Given the description of an element on the screen output the (x, y) to click on. 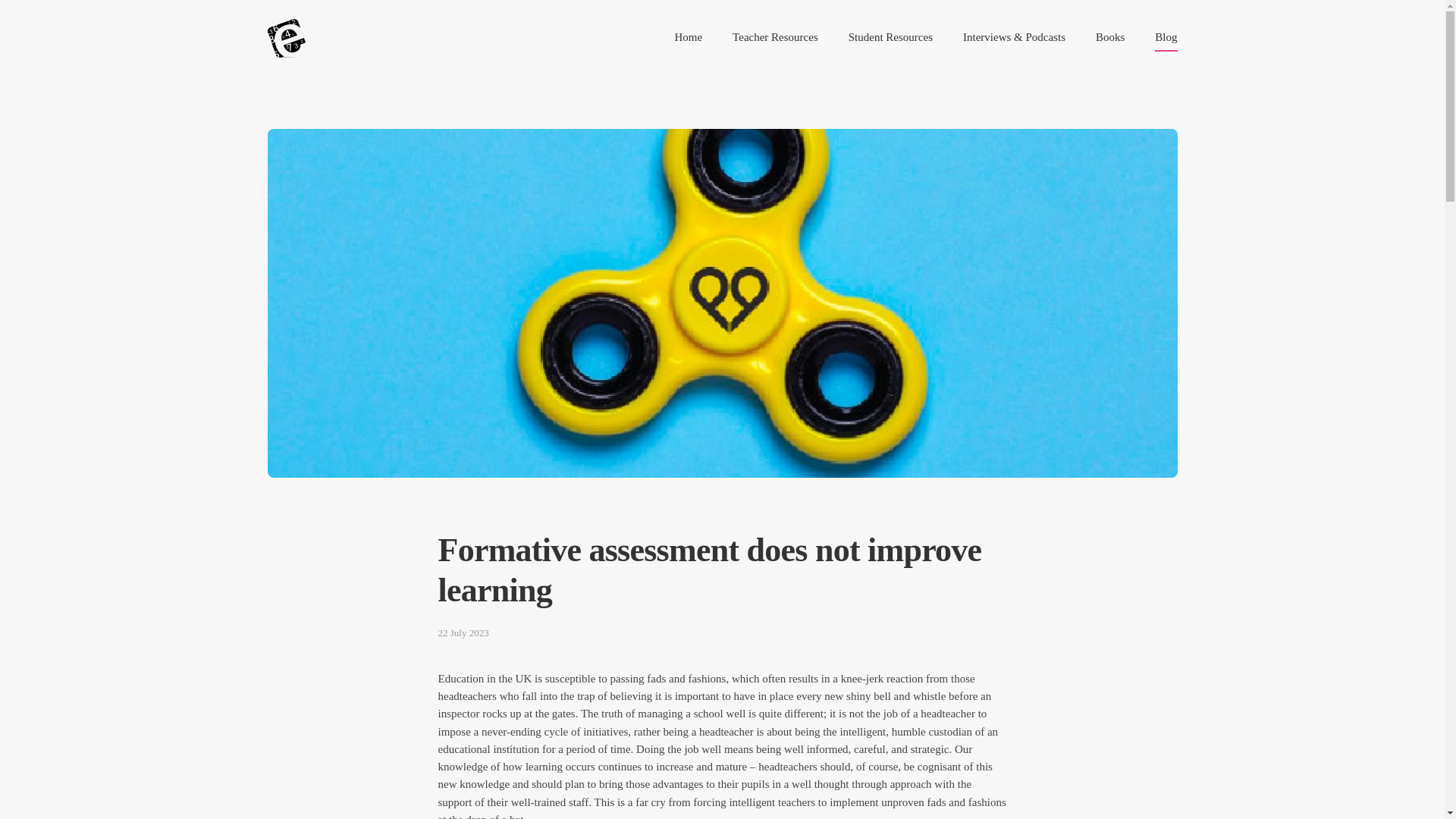
Formative assessment does not improve learning (722, 570)
22 July 2023 (722, 632)
Teacher Resources (775, 37)
Student Resources (890, 37)
